Given the description of an element on the screen output the (x, y) to click on. 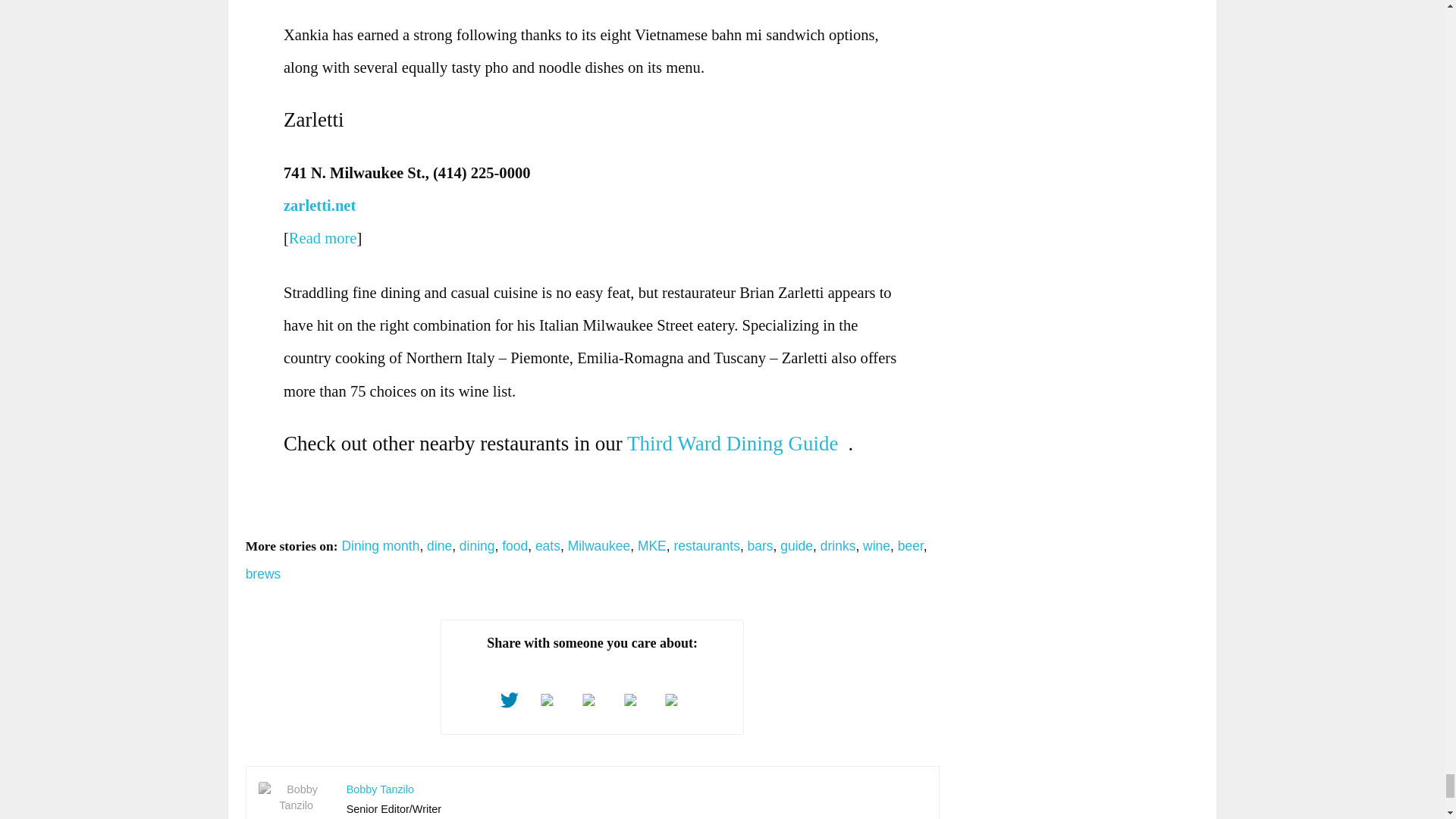
Share "Downtown dining guide" on Facebook (550, 700)
Share "Downtown dining guide" on Tumblr (591, 700)
Bobby Tanzilo (296, 797)
More articles by Bobby Tanzilo (379, 788)
Share "Downtown dining guide" on Twitter (509, 700)
Share "Downtown dining guide" on LinkedIn (633, 700)
Share "Downtown dining guide" via email (674, 700)
